Given the description of an element on the screen output the (x, y) to click on. 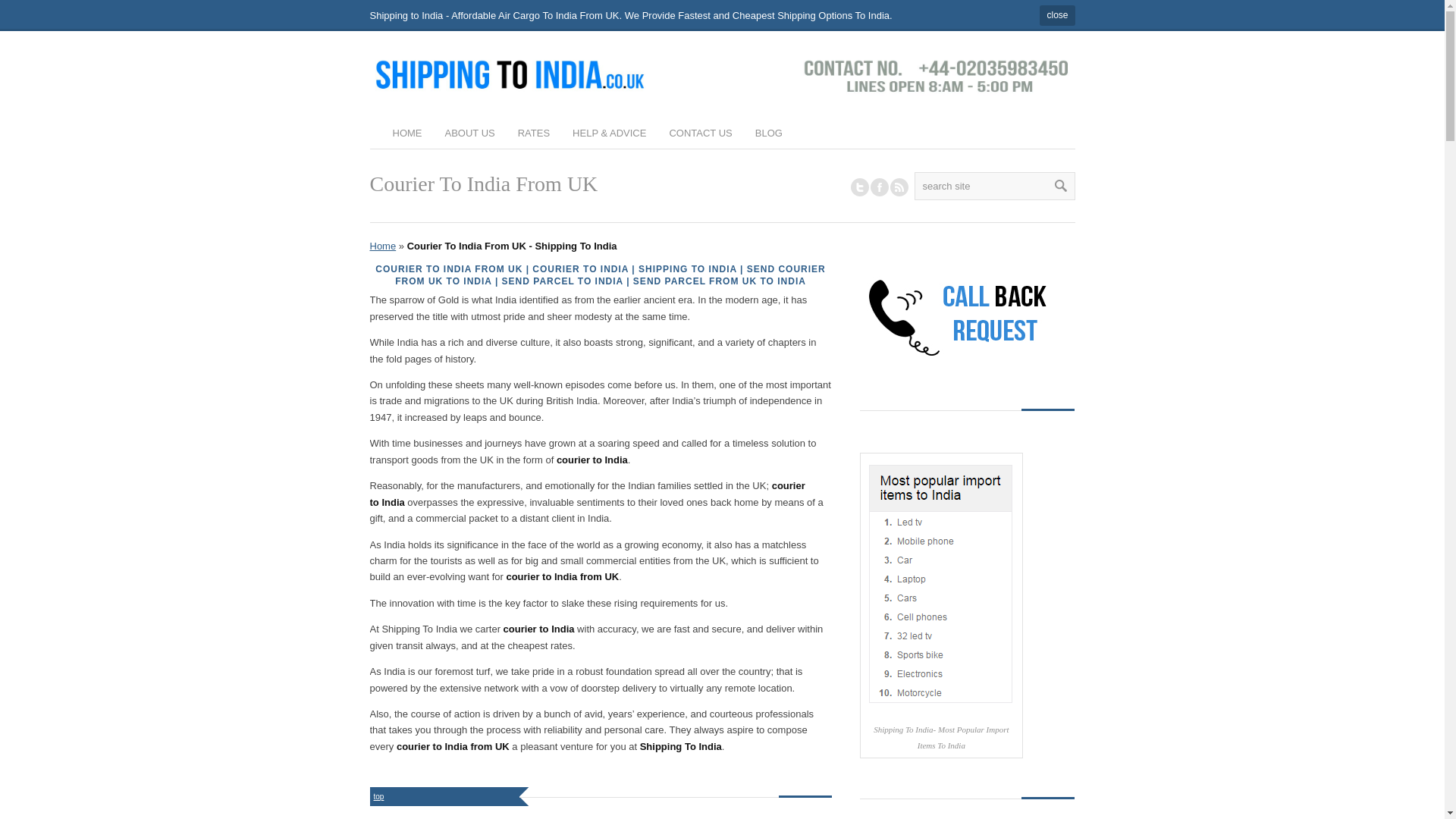
CONTACT US (700, 134)
ABOUT US (469, 134)
Shipping To India (722, 75)
top (379, 796)
Home (382, 245)
RATES (534, 134)
BLOG (769, 134)
close (1056, 14)
search site (994, 185)
HOME (407, 134)
